Given the description of an element on the screen output the (x, y) to click on. 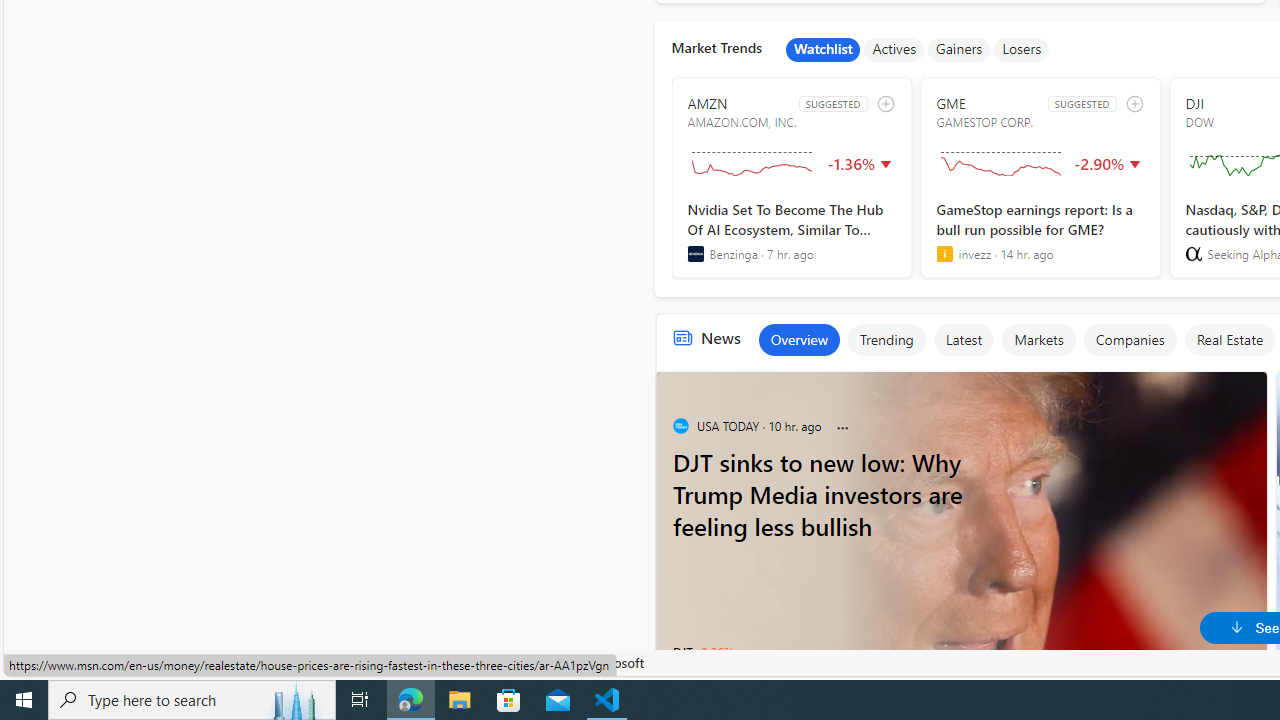
Losers (1021, 49)
Overview (798, 339)
invezz (944, 254)
Benzinga (695, 254)
Latest (963, 339)
USA TODAY (680, 426)
Real Estate (1229, 339)
Gainers (959, 49)
